Given the description of an element on the screen output the (x, y) to click on. 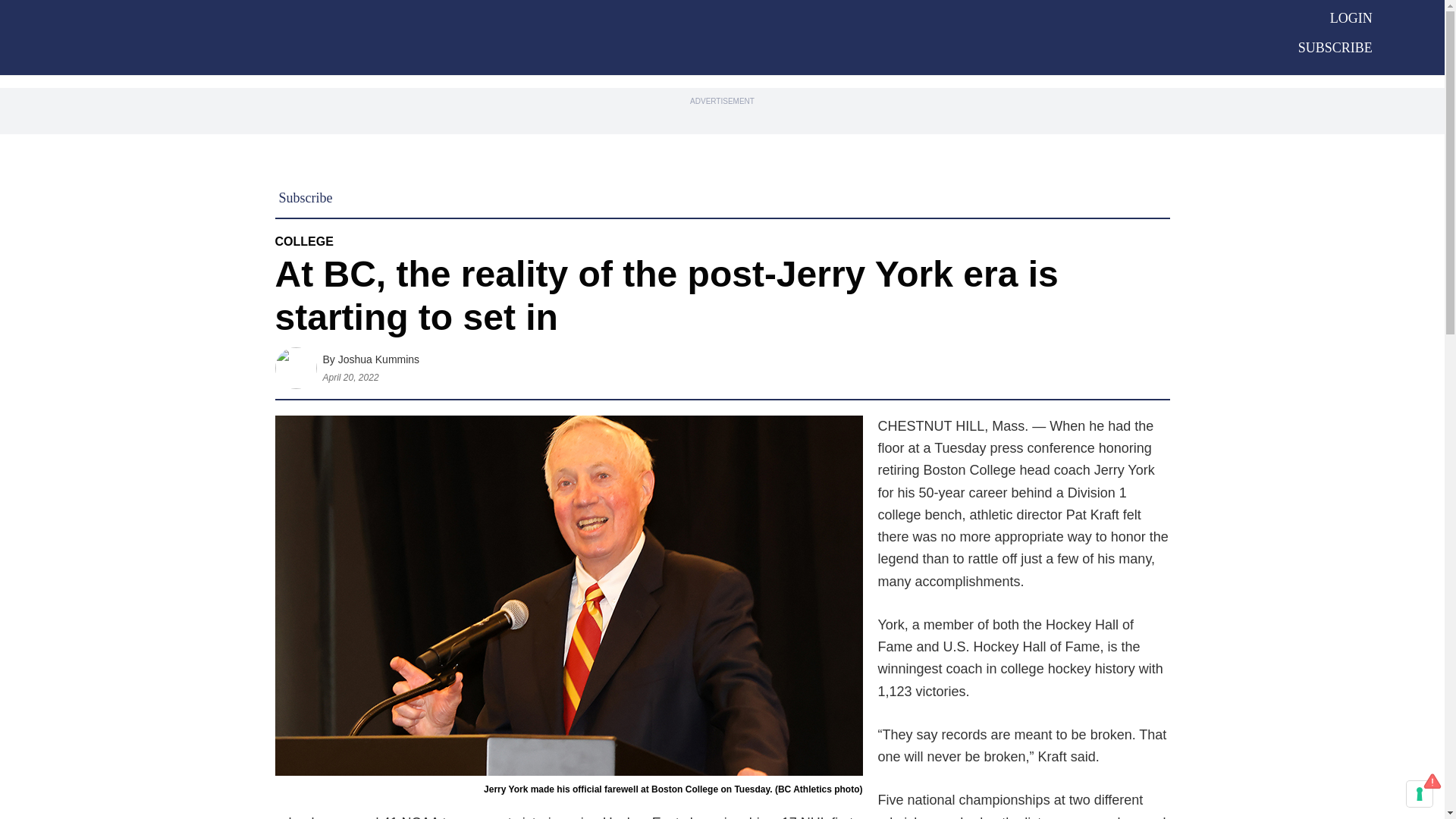
Joshua Kummins (378, 358)
Subscribe (306, 197)
COLLEGE (304, 241)
LOGIN (1351, 17)
New England Hockey Journal (676, 37)
SUBSCRIBE (1335, 47)
